Given the description of an element on the screen output the (x, y) to click on. 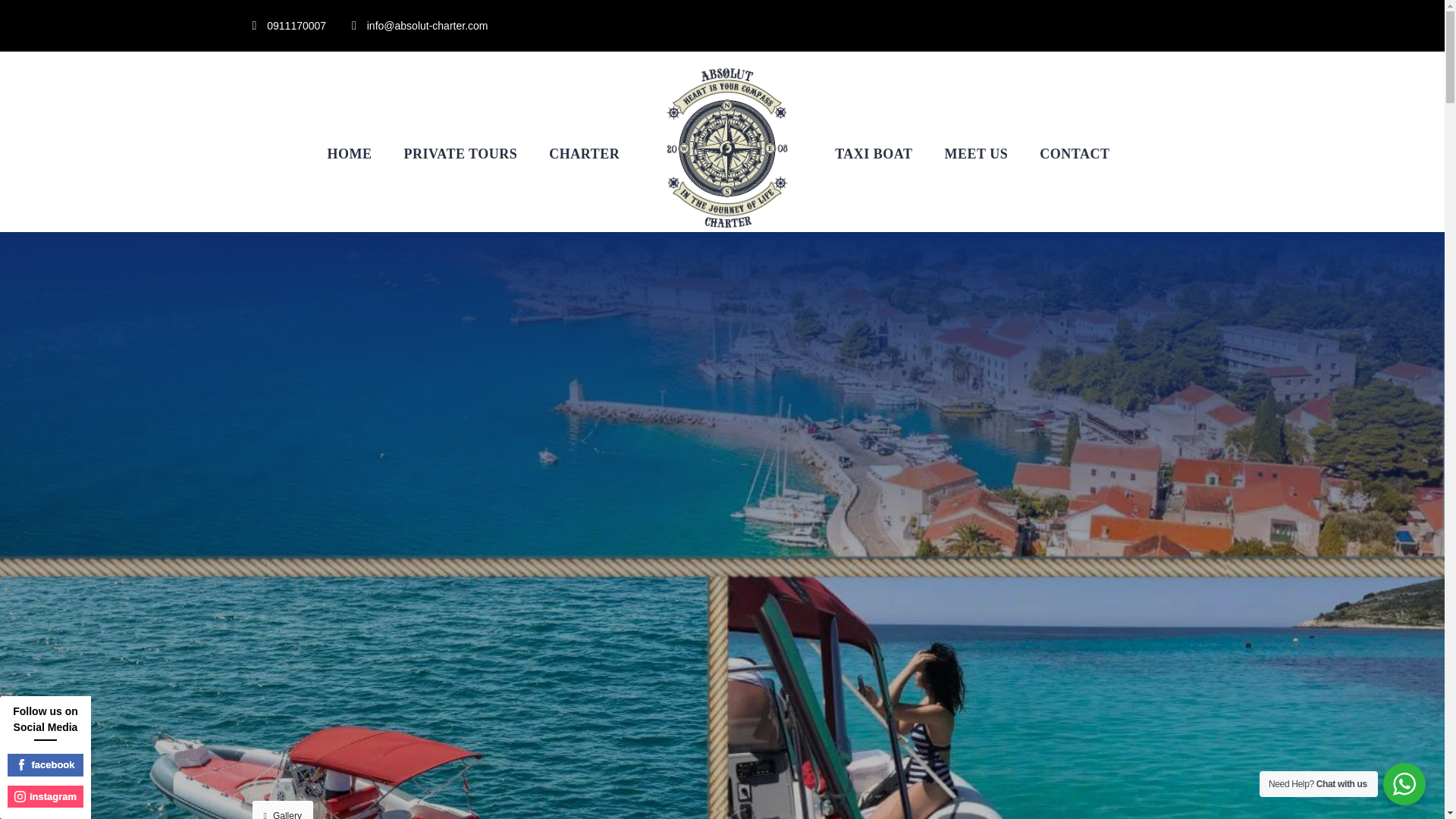
CONTACT (1074, 120)
0911170007 (296, 25)
Gallery (282, 809)
TAXI BOAT (873, 120)
HOME (349, 120)
MEET US (976, 120)
PRIVATE TOURS (461, 120)
CHARTER (584, 120)
goleslogo (726, 148)
